Given the description of an element on the screen output the (x, y) to click on. 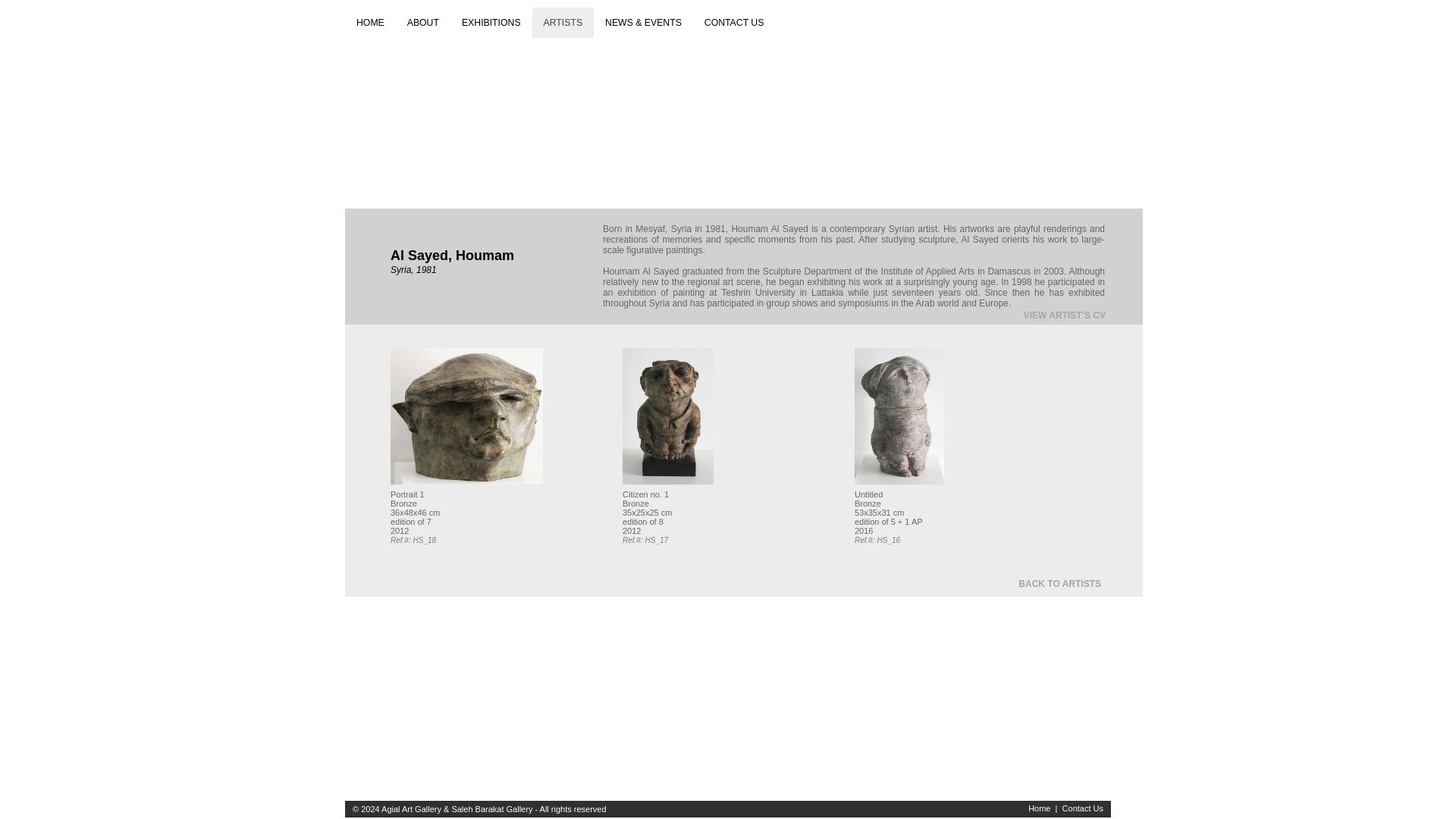
Contact Us (1082, 808)
EXHIBITIONS (490, 22)
ABOUT (422, 22)
Home (1038, 808)
ARTISTS (563, 22)
HOME (370, 22)
CONTACT US (734, 22)
BACK TO ARTISTS (1058, 583)
